Given the description of an element on the screen output the (x, y) to click on. 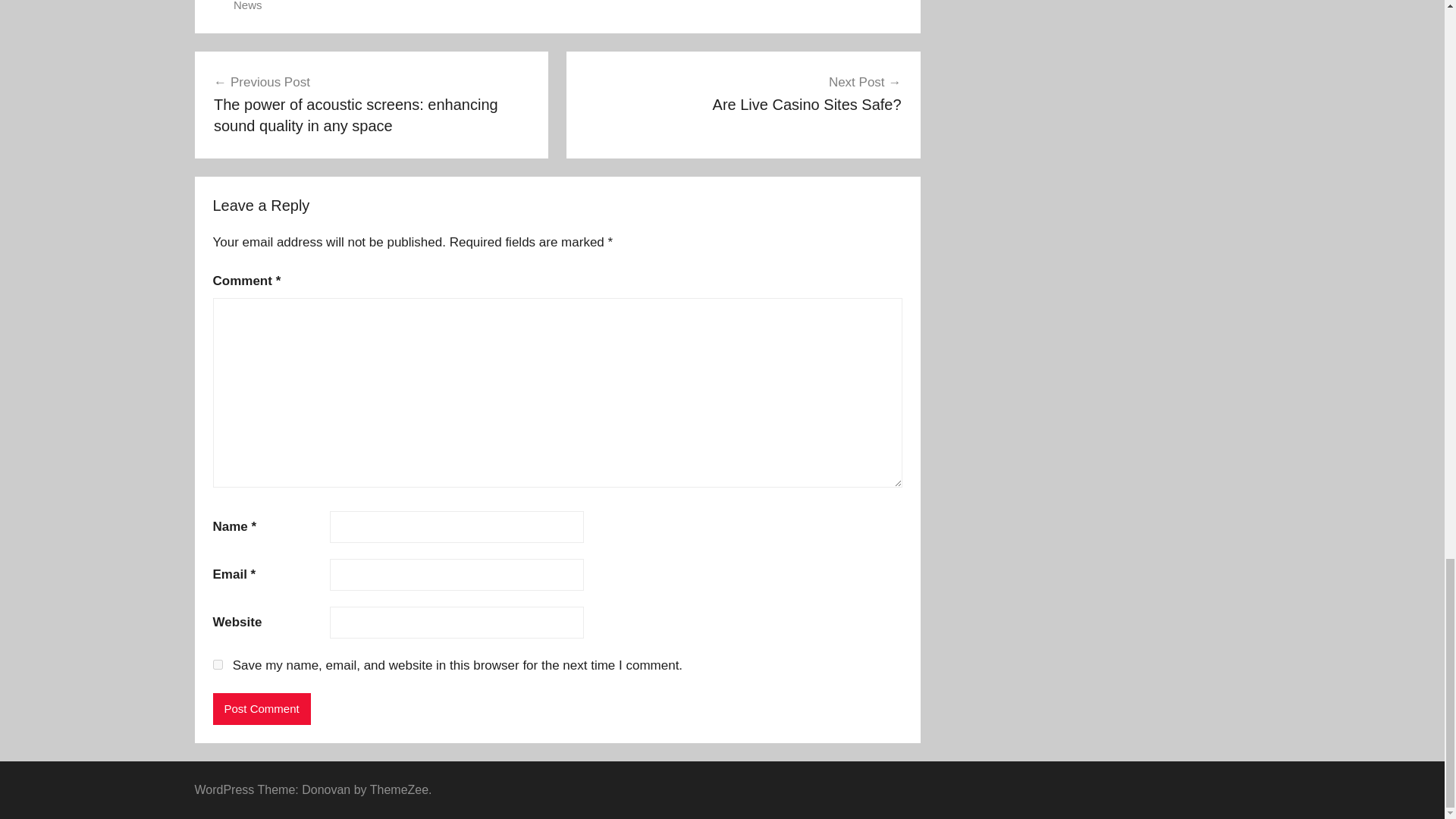
Post Comment (261, 707)
News (743, 93)
yes (247, 5)
Post Comment (217, 664)
